Given the description of an element on the screen output the (x, y) to click on. 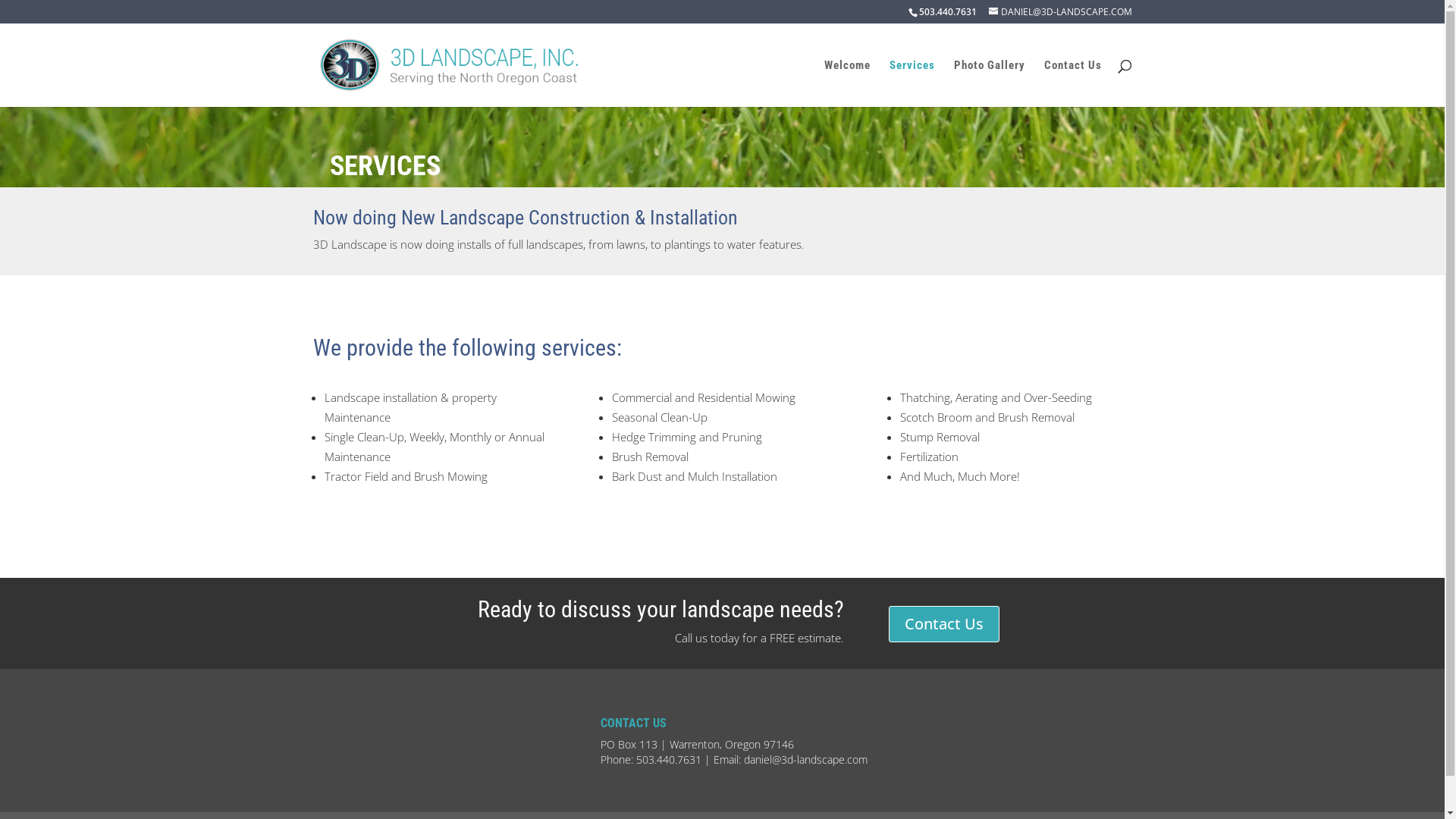
Contact Us Element type: text (943, 623)
Photo Gallery Element type: text (989, 82)
DANIEL@3D-LANDSCAPE.COM Element type: text (1060, 11)
Services Element type: text (911, 82)
Contact Us Element type: text (1072, 82)
Welcome Element type: text (846, 82)
